Given the description of an element on the screen output the (x, y) to click on. 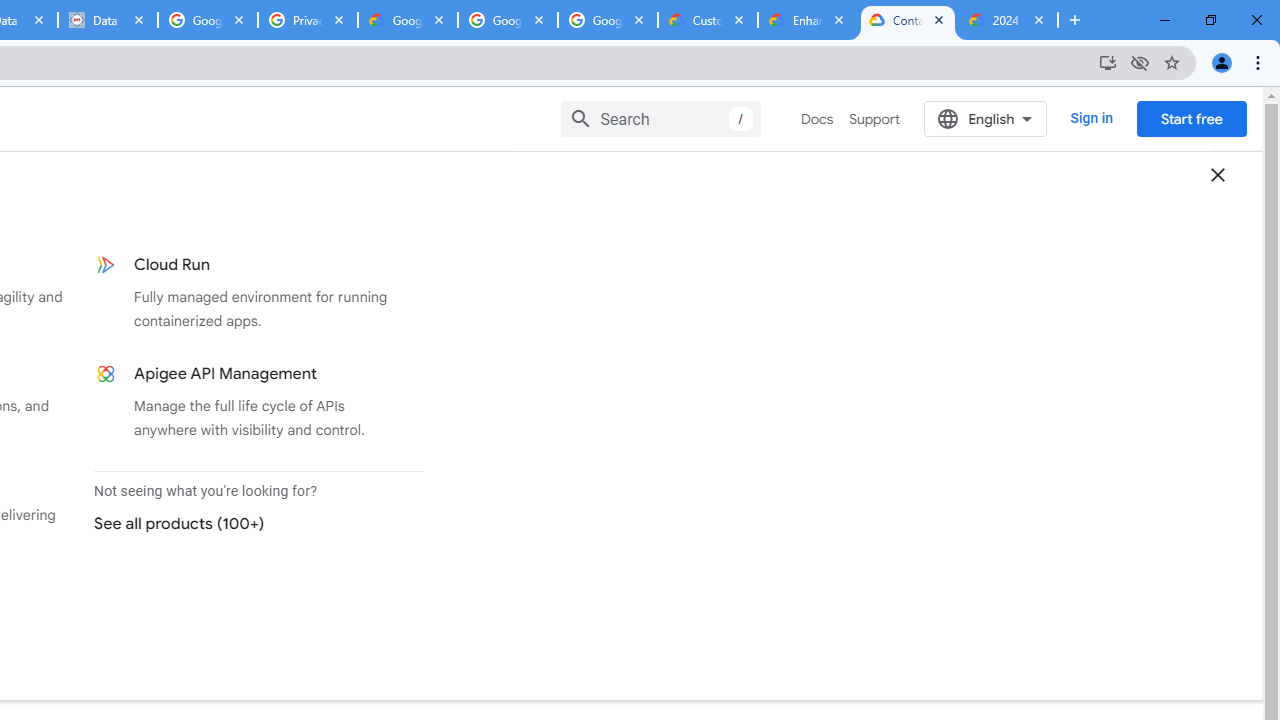
Customer Care | Google Cloud (707, 20)
Enhanced Support | Google Cloud (807, 20)
Google Workspace - Specific Terms (607, 20)
See all products (100+) (250, 523)
